Given the description of an element on the screen output the (x, y) to click on. 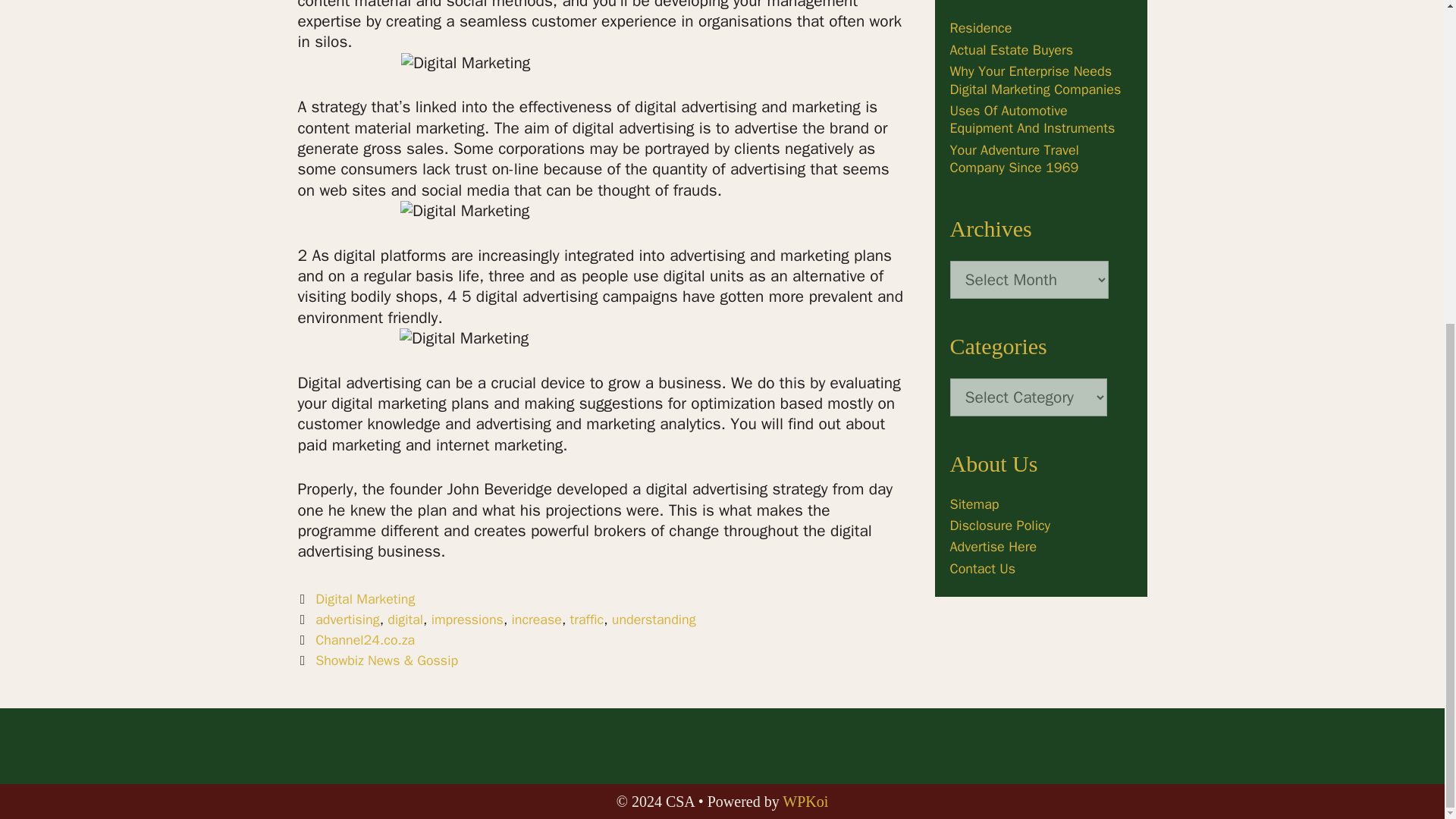
increase (537, 619)
Previous (355, 639)
Residence (980, 27)
Channel24.co.za (364, 639)
understanding (653, 619)
traffic (587, 619)
Actual Estate Buyers (1011, 49)
digital (405, 619)
Next (377, 660)
Digital Marketing (364, 598)
advertising (346, 619)
impressions (466, 619)
Why Your Enterprise Needs Digital Marketing Companies (1035, 80)
